Given the description of an element on the screen output the (x, y) to click on. 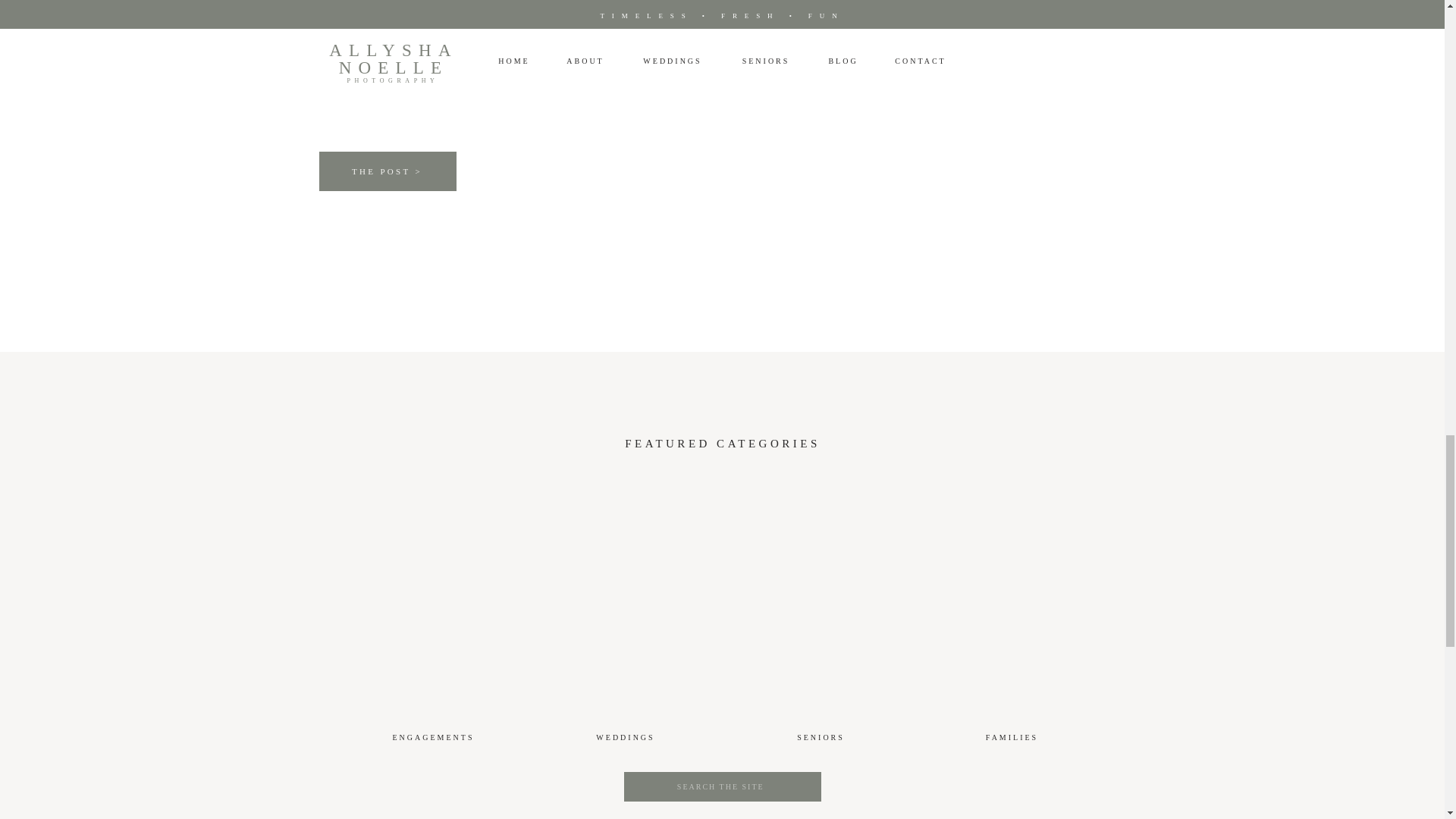
FAMILIES (1010, 739)
ENGAGEMENTS (433, 738)
SENIORS (820, 740)
WEDDINGS (625, 738)
